Given the description of an element on the screen output the (x, y) to click on. 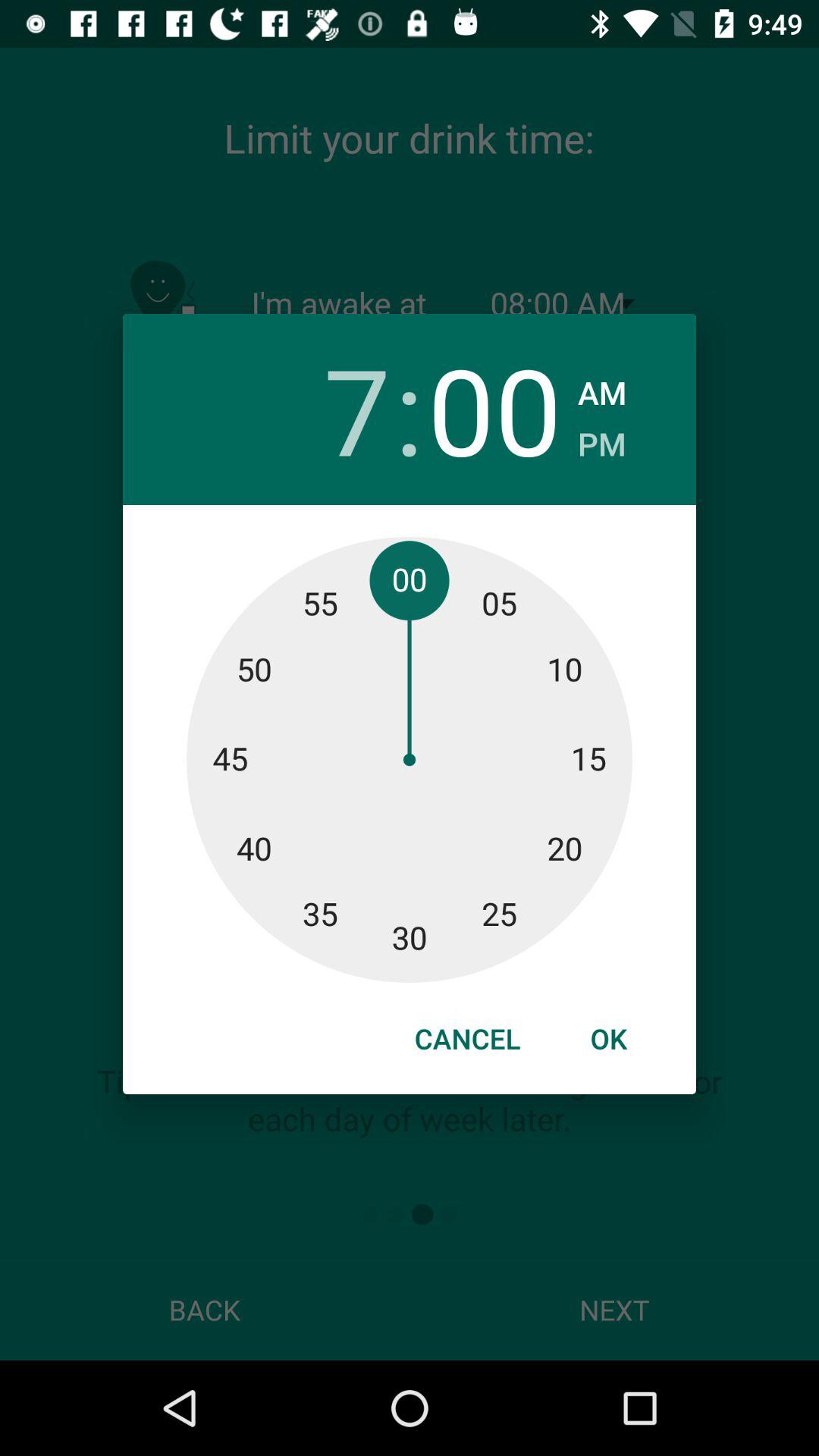
jump until 00 (494, 408)
